Given the description of an element on the screen output the (x, y) to click on. 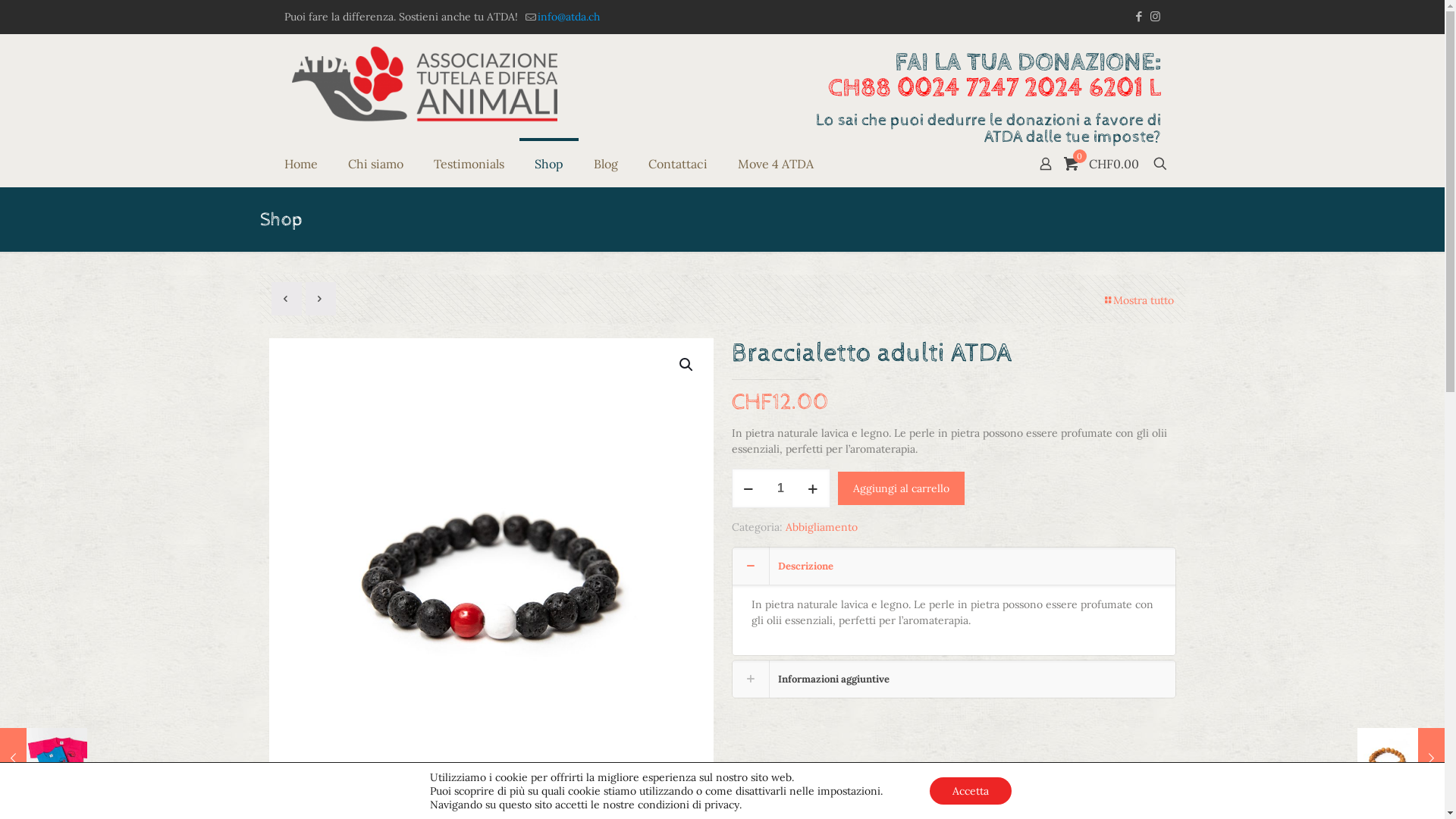
Aggiungi al carrello Element type: text (900, 488)
Abbigliamento Element type: text (821, 526)
ATDA - Associazione Tutela e Difesa Animali Element type: hover (423, 83)
Chi siamo Element type: text (374, 163)
0
CHF0.00 Element type: text (1102, 163)
Contattaci Element type: text (676, 163)
Home Element type: text (300, 163)
Move 4 ATDA Element type: text (774, 163)
info@atda.ch Element type: text (567, 16)
impostazioni Element type: text (848, 790)
Accetta Element type: text (970, 790)
Instagram Element type: hover (1155, 16)
Blog Element type: text (604, 163)
Mostra tutto Element type: text (1137, 300)
Facebook Element type: hover (1138, 16)
Braccialetto ATDA adulto front Element type: hover (490, 560)
nostre condizioni di privacy Element type: text (670, 804)
Shop Element type: text (547, 163)
Testimonials Element type: text (468, 163)
